Given the description of an element on the screen output the (x, y) to click on. 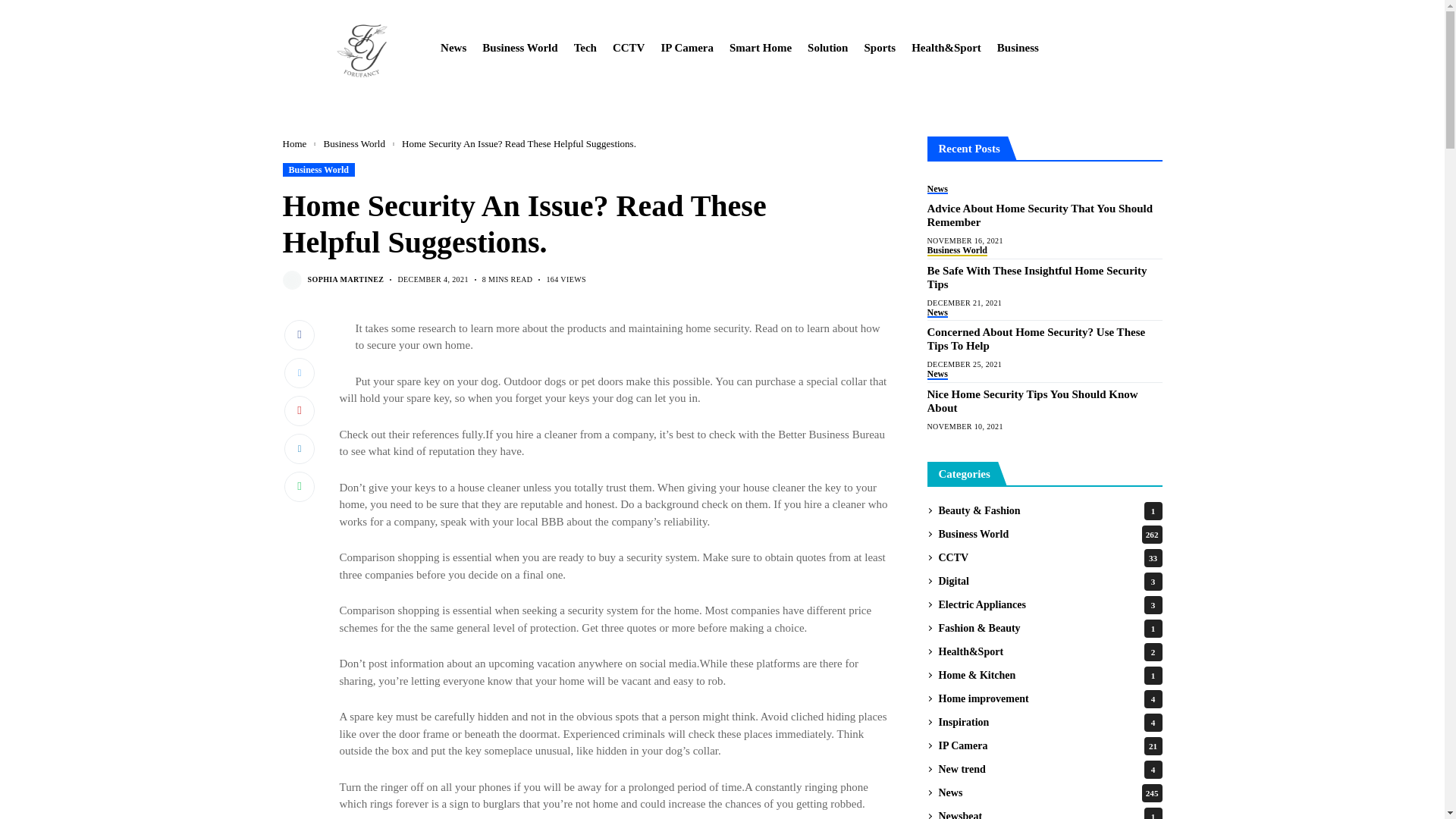
Business World (353, 143)
SOPHIA MARTINEZ (345, 279)
Posts by Sophia Martinez (345, 279)
Home (293, 143)
Smart Home (760, 48)
Business World (317, 169)
Business World (519, 48)
